Given the description of an element on the screen output the (x, y) to click on. 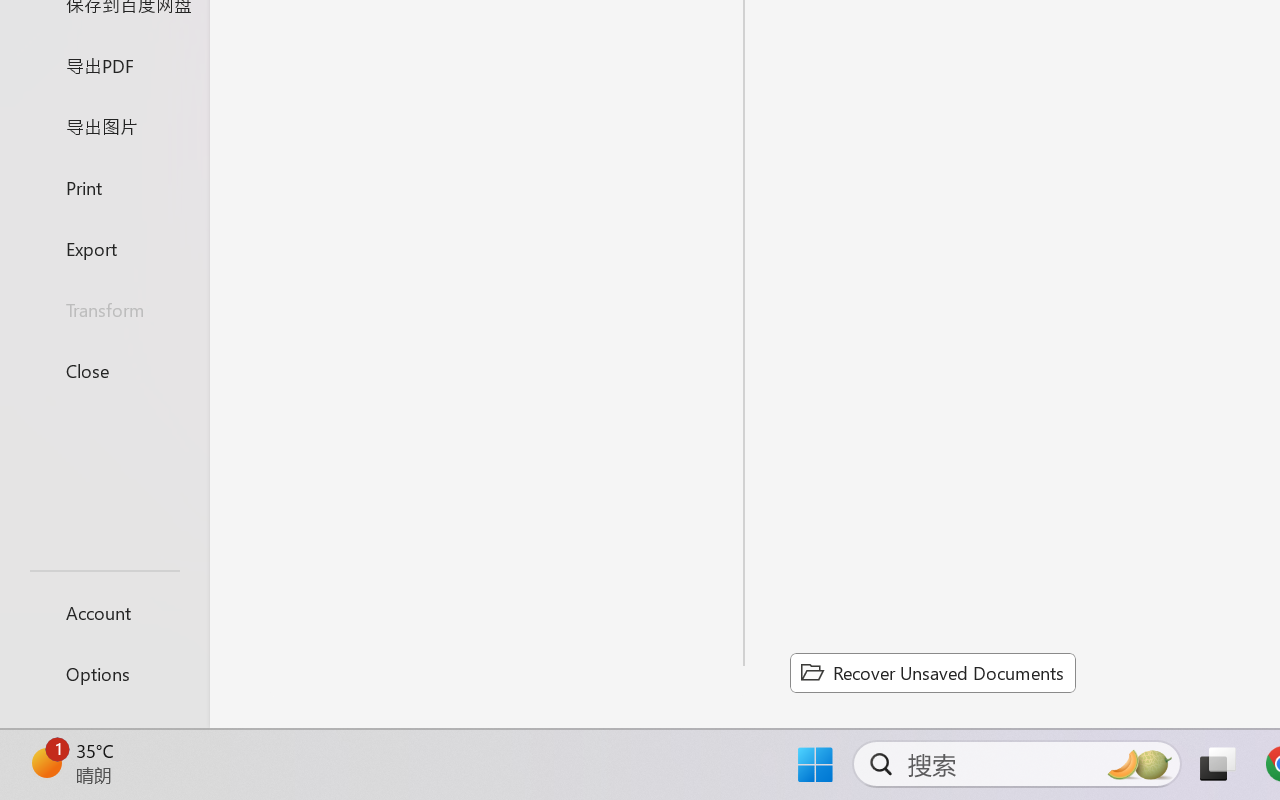
Transform (104, 309)
Export (104, 248)
Print (104, 186)
Options (104, 673)
Account (104, 612)
Recover Unsaved Documents (932, 672)
